Given the description of an element on the screen output the (x, y) to click on. 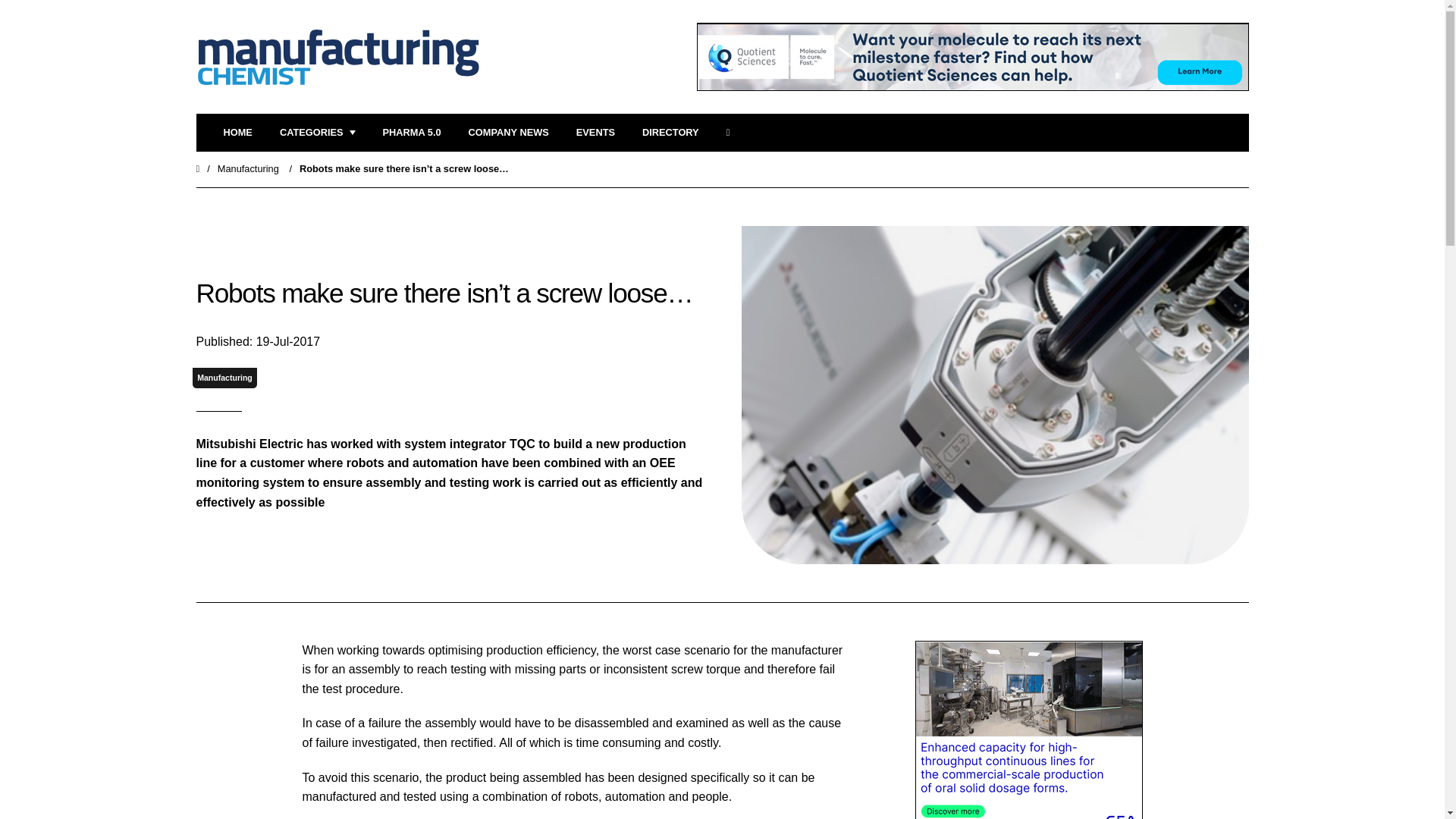
PHARMA 5.0 (411, 133)
DIRECTORY (670, 133)
COMPANY NEWS (508, 133)
Pharma 5.0 (411, 133)
Directory (670, 133)
EVENTS (595, 133)
Manufacturing (224, 377)
HOME (236, 133)
Manufacturing (247, 168)
CATEGORIES (317, 133)
SEARCH (732, 133)
